Given the description of an element on the screen output the (x, y) to click on. 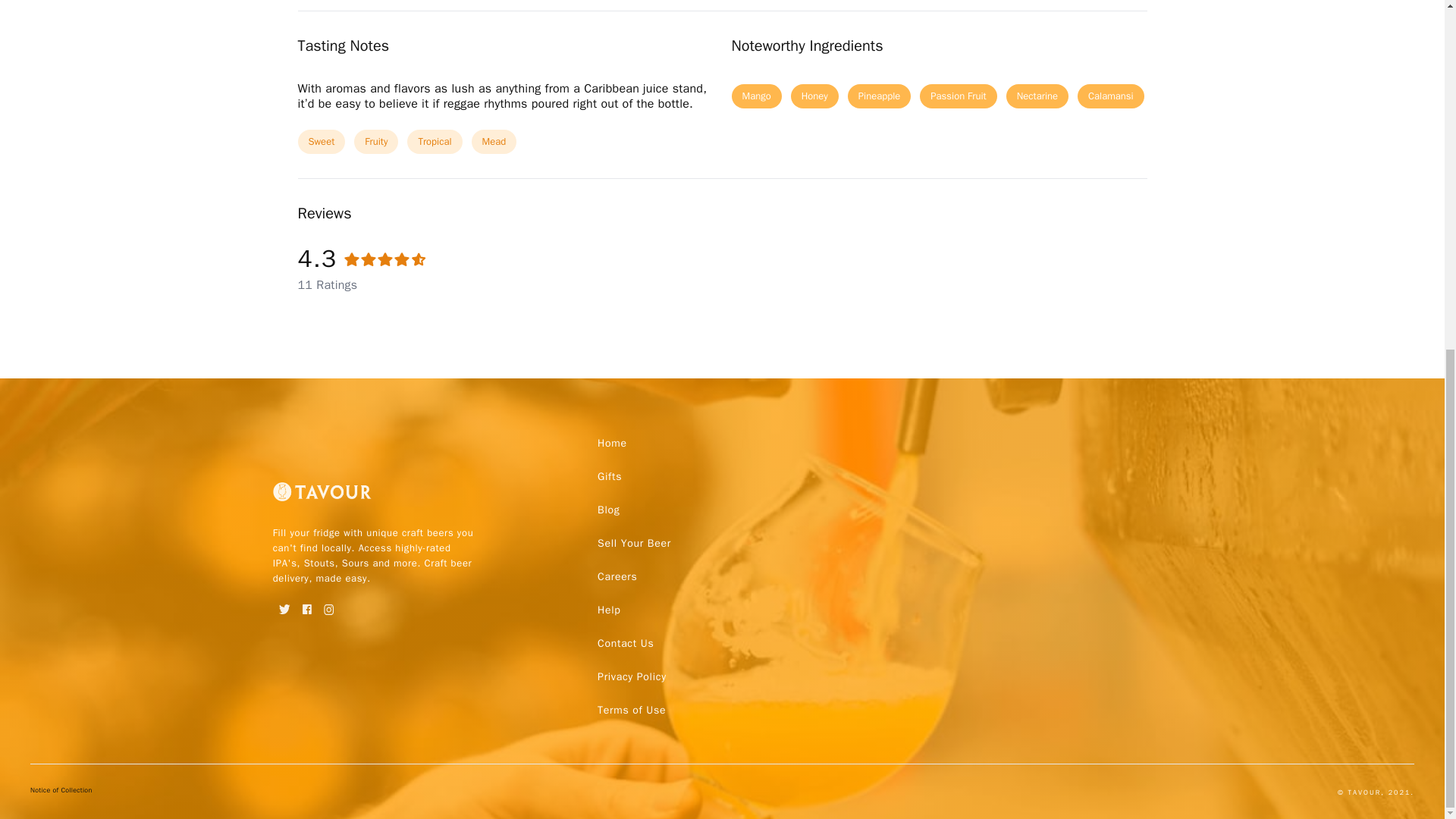
Terms of Use (631, 709)
Facebook (307, 604)
FAQ (625, 643)
blog (608, 509)
Careers (617, 575)
Twitter (285, 604)
FAQ (631, 709)
Instagram (328, 604)
Help (608, 609)
Careers (617, 575)
gifts (609, 476)
home (612, 442)
Tavour (322, 497)
Contact Us (625, 643)
Notice of Collection (61, 792)
